Given the description of an element on the screen output the (x, y) to click on. 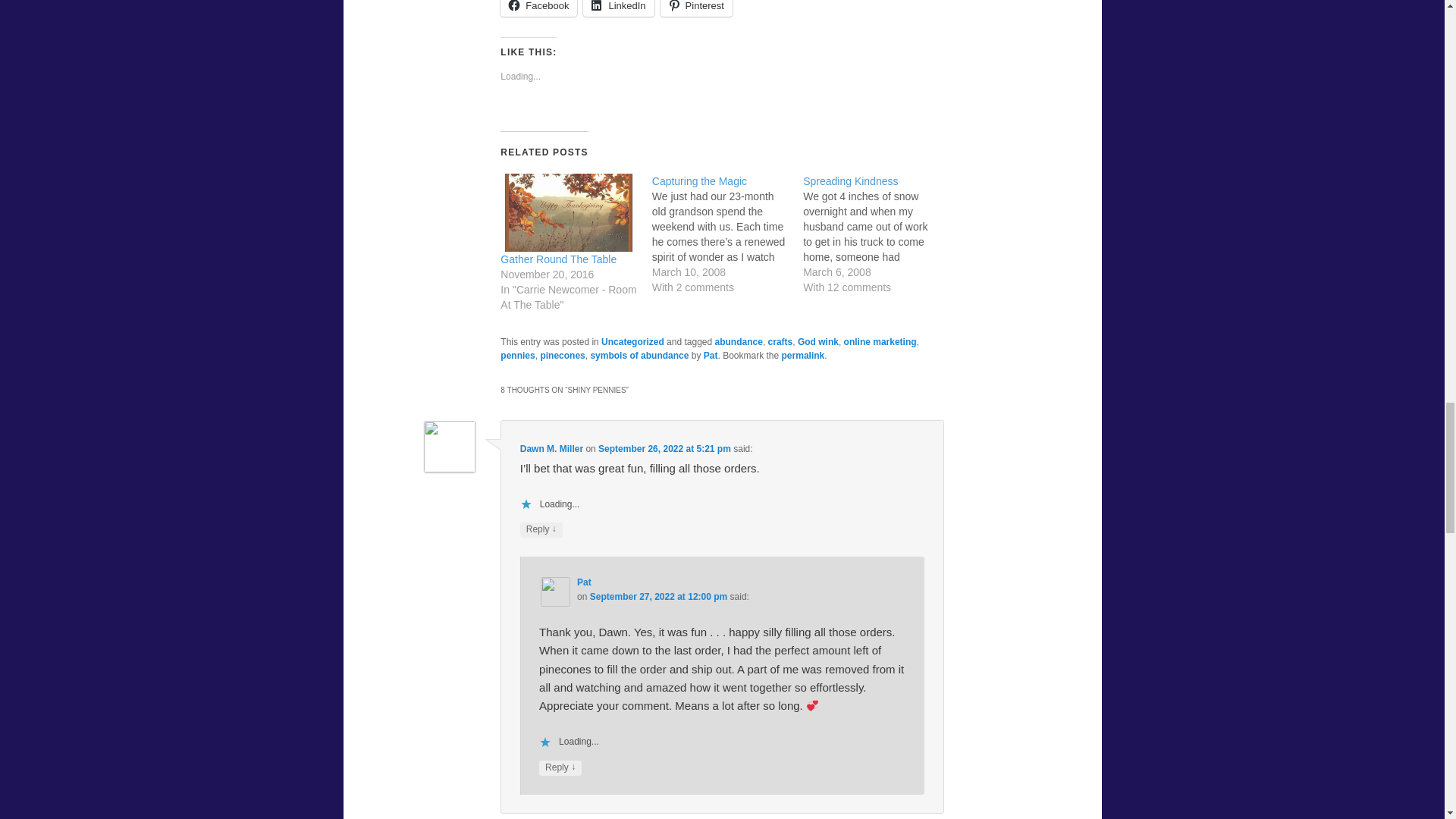
crafts (780, 341)
Click to share on Facebook (538, 8)
pennies (517, 355)
Gather Round The Table (568, 212)
Click to share on LinkedIn (618, 8)
Facebook (538, 8)
Dawn M. Miller (551, 448)
Spreading Kindness (850, 181)
Click to share on Pinterest (696, 8)
Permalink to Shiny Pennies (803, 355)
pinecones (562, 355)
Pat (710, 355)
Pinterest (696, 8)
Capturing the Magic (727, 233)
symbols of abundance (638, 355)
